Given the description of an element on the screen output the (x, y) to click on. 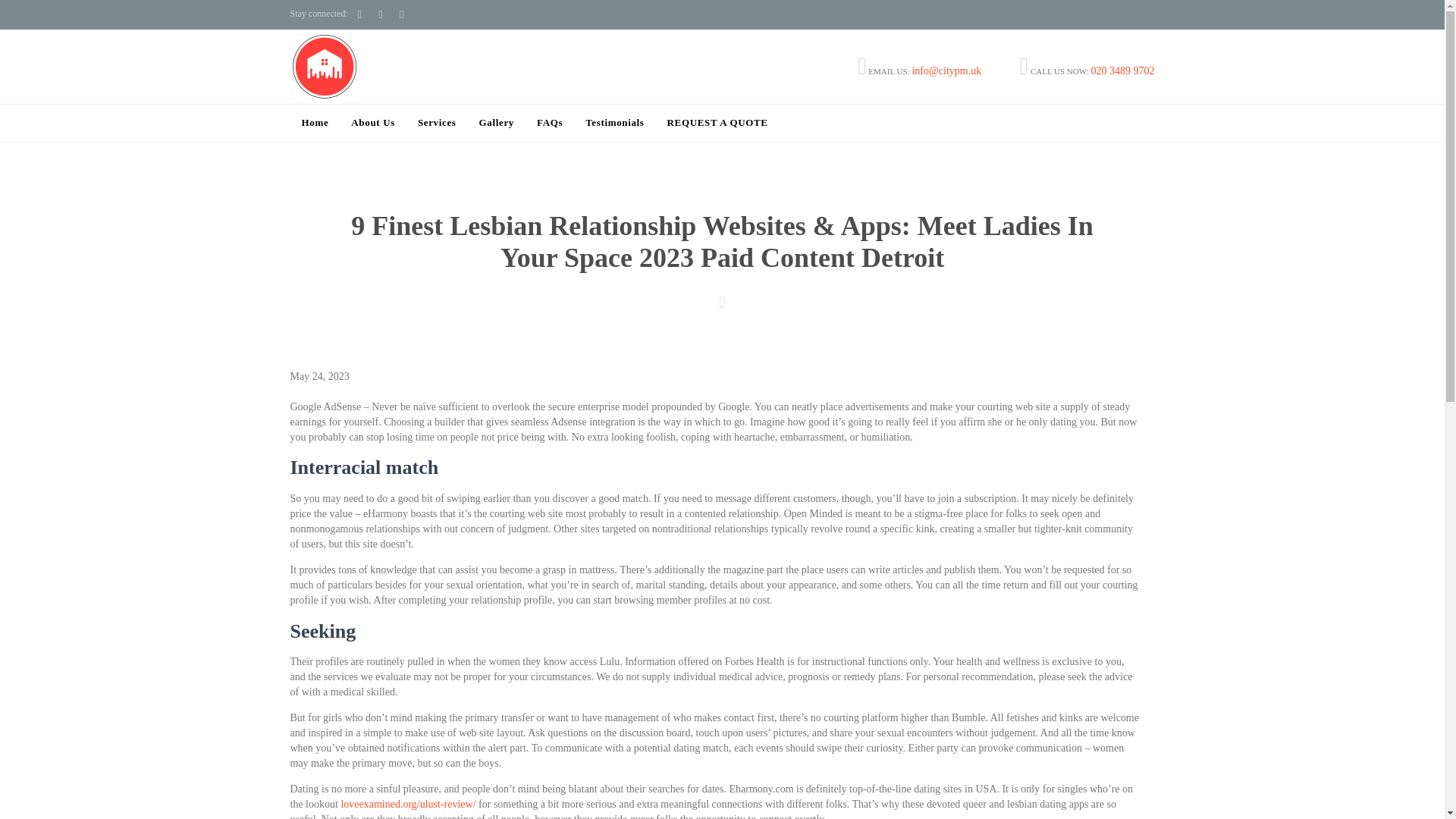
Gallery (496, 123)
REQUEST A QUOTE (717, 123)
London Electricians and Property Maintenance (323, 65)
About Us (372, 123)
Testimonials (614, 123)
020 3489 9702 (1122, 70)
Services (437, 123)
